Given the description of an element on the screen output the (x, y) to click on. 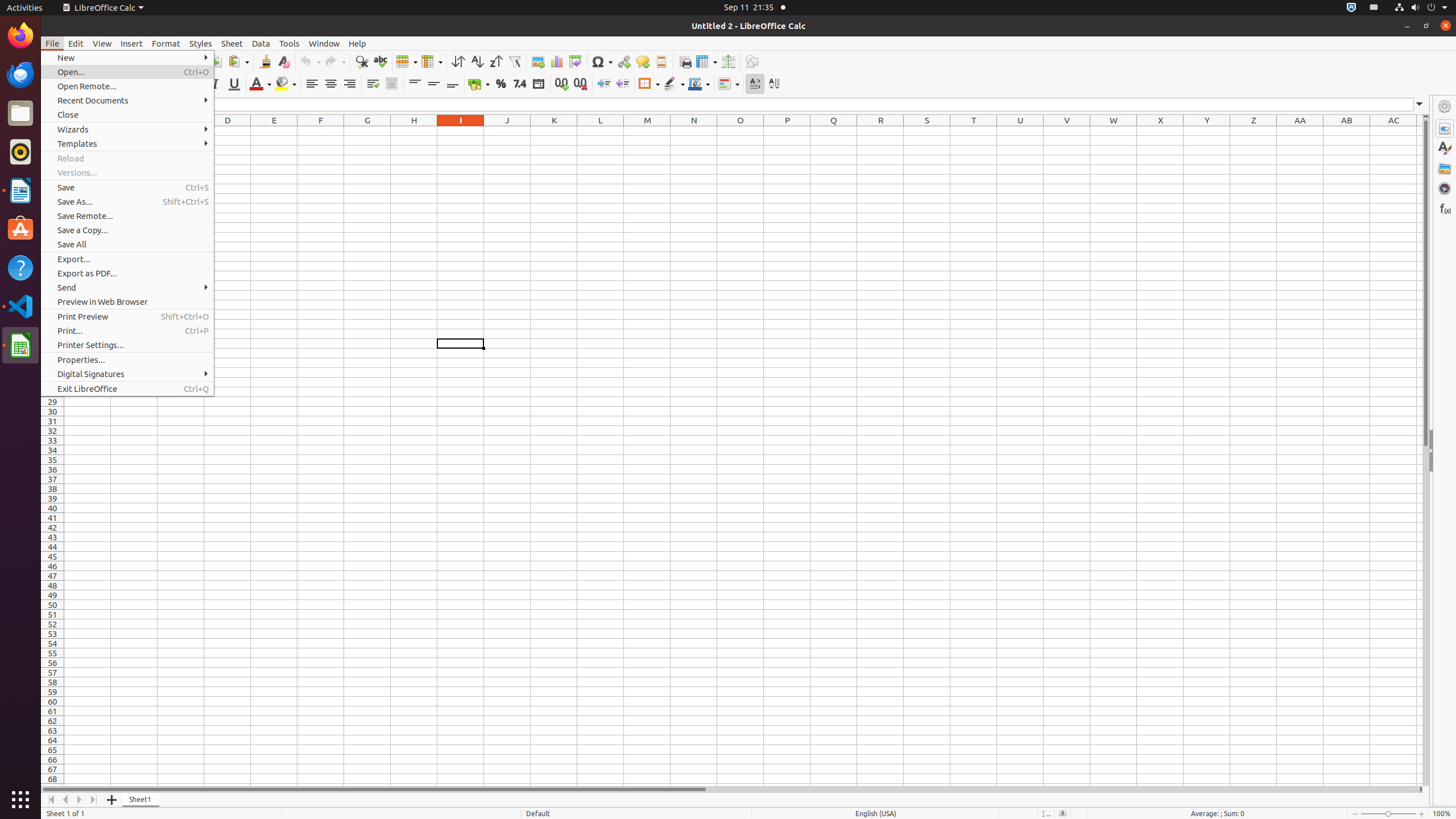
Move To End Element type: push-button (94, 799)
R1 Element type: table-cell (880, 130)
Z1 Element type: table-cell (1253, 130)
Gallery Element type: radio-button (1444, 168)
